Given the description of an element on the screen output the (x, y) to click on. 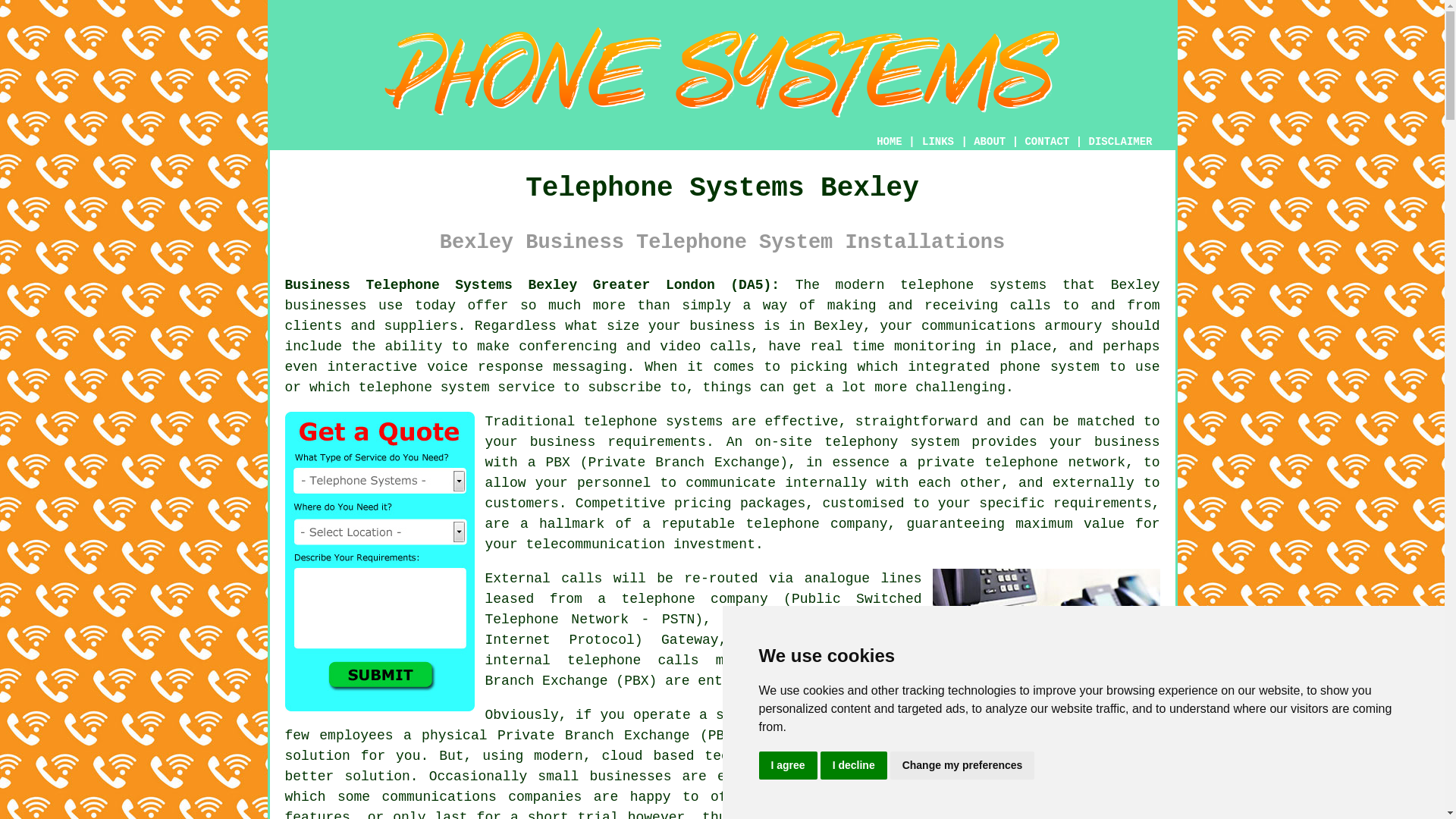
Change my preferences (962, 765)
LINKS (938, 141)
I decline (853, 765)
I agree (787, 765)
HOME (889, 141)
telephone company (816, 523)
Telephone Systems Bexley (721, 72)
